Given the description of an element on the screen output the (x, y) to click on. 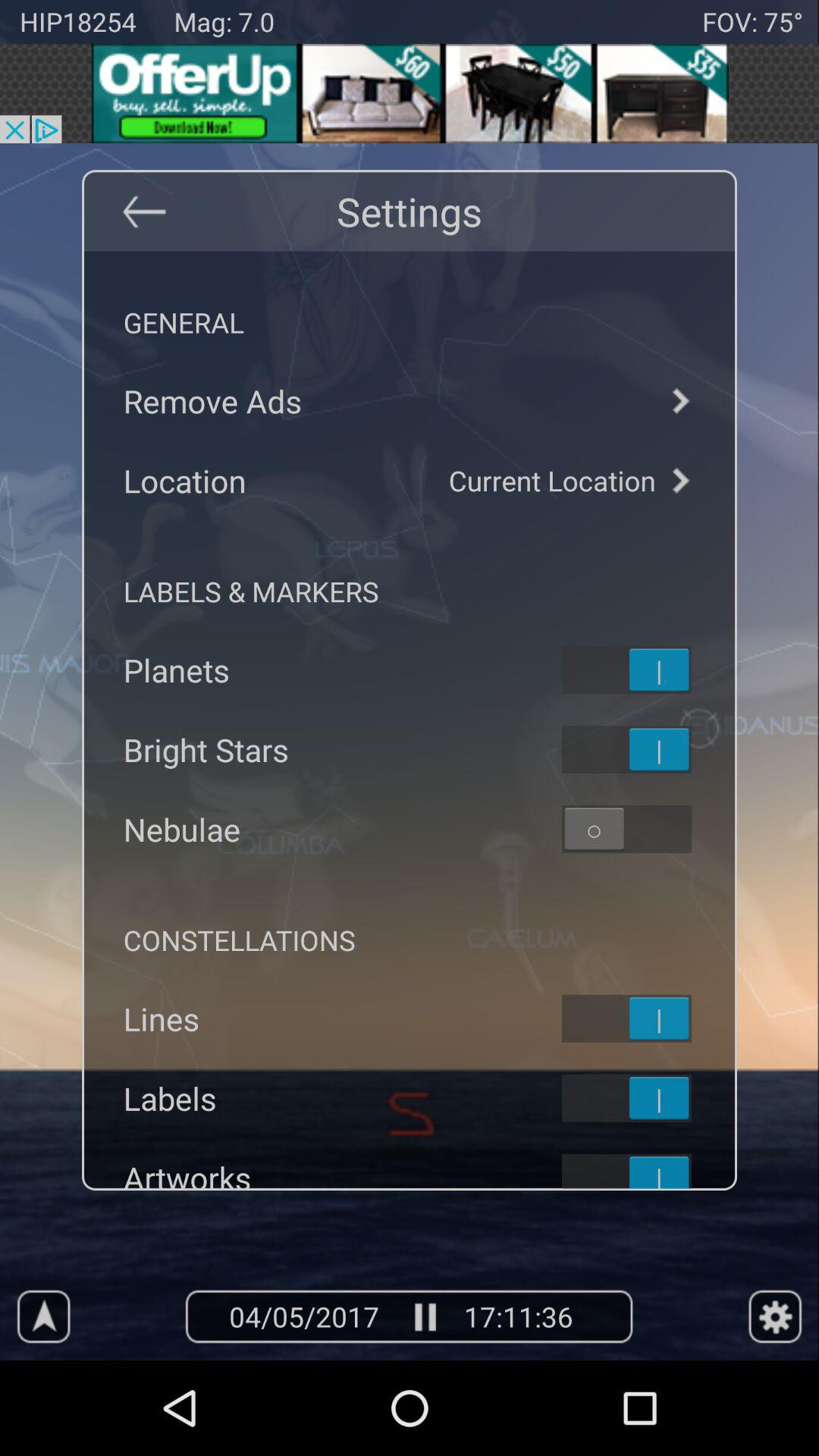
on-off (646, 749)
